Given the description of an element on the screen output the (x, y) to click on. 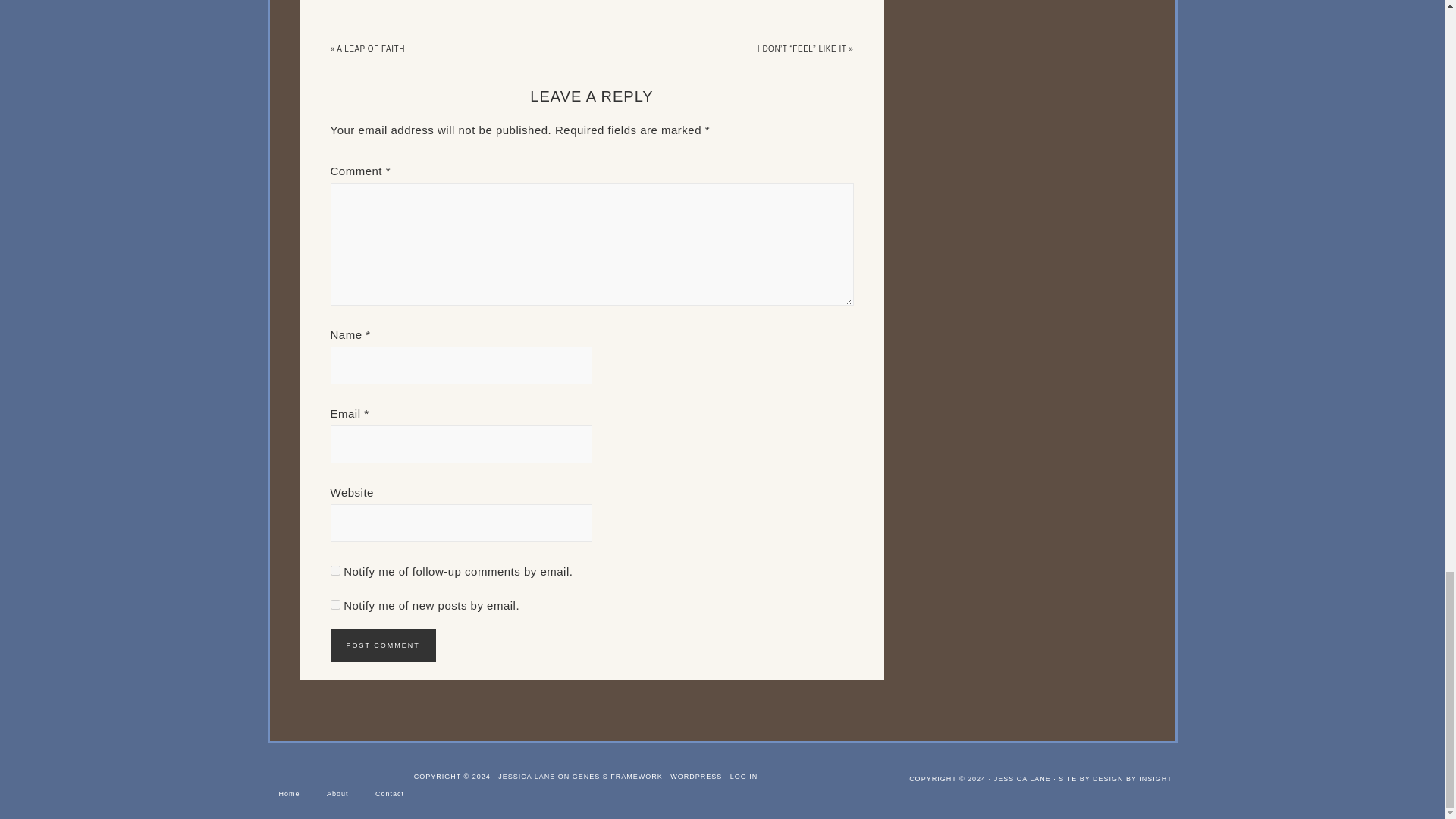
Home (288, 794)
LOG IN (744, 776)
subscribe (335, 604)
DESIGN BY INSIGHT (1132, 778)
subscribe (335, 570)
WORDPRESS (695, 776)
JESSICA LANE (525, 776)
Post Comment (382, 644)
Post Comment (382, 644)
JESSICA LANE (1022, 778)
GENESIS FRAMEWORK (617, 776)
